Given the description of an element on the screen output the (x, y) to click on. 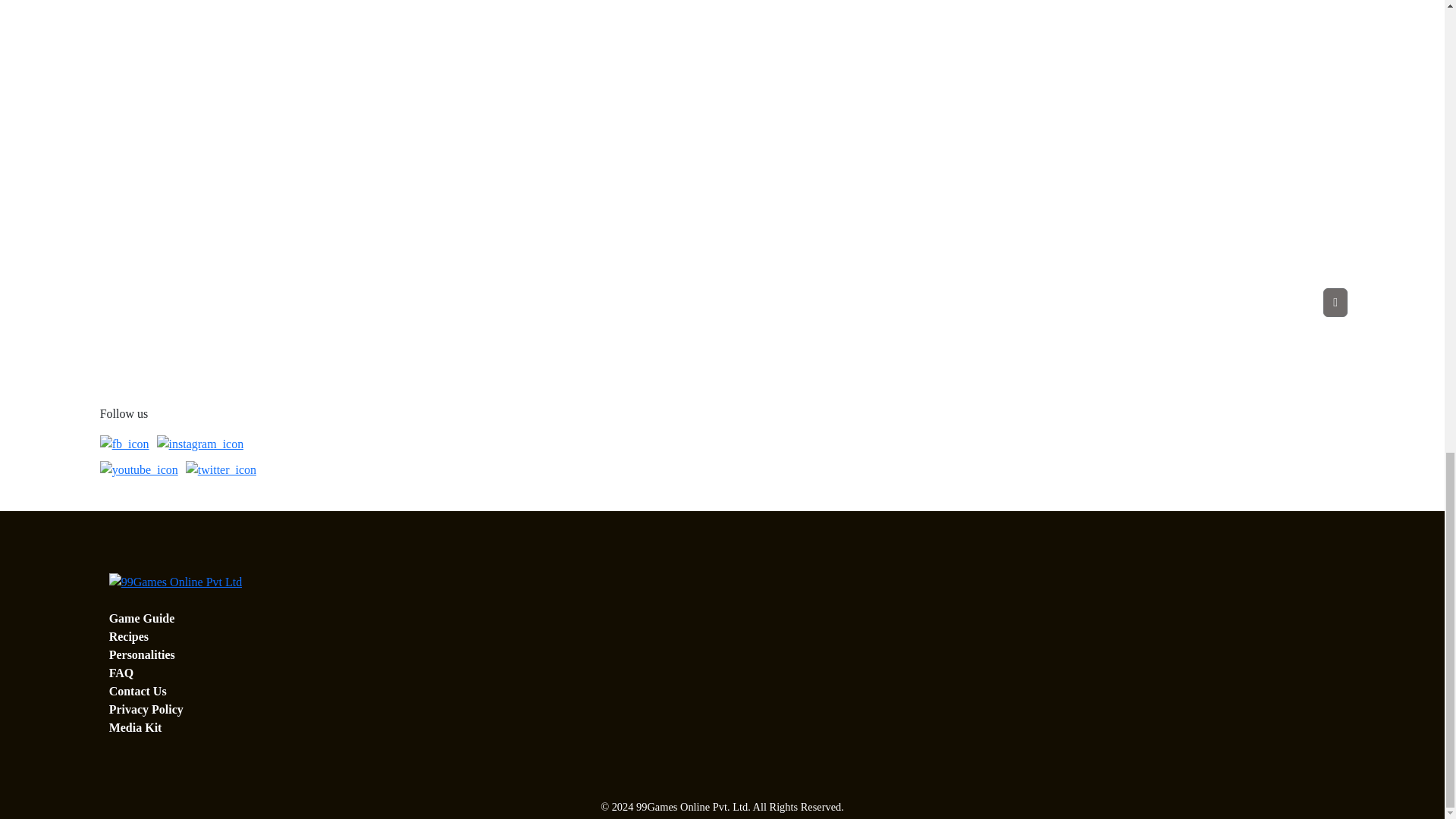
FAQ (121, 672)
Contact Us (138, 690)
Game Guide (141, 617)
Personalities (141, 654)
Privacy Policy (146, 708)
Recipes (128, 635)
Media Kit (135, 727)
